Given the description of an element on the screen output the (x, y) to click on. 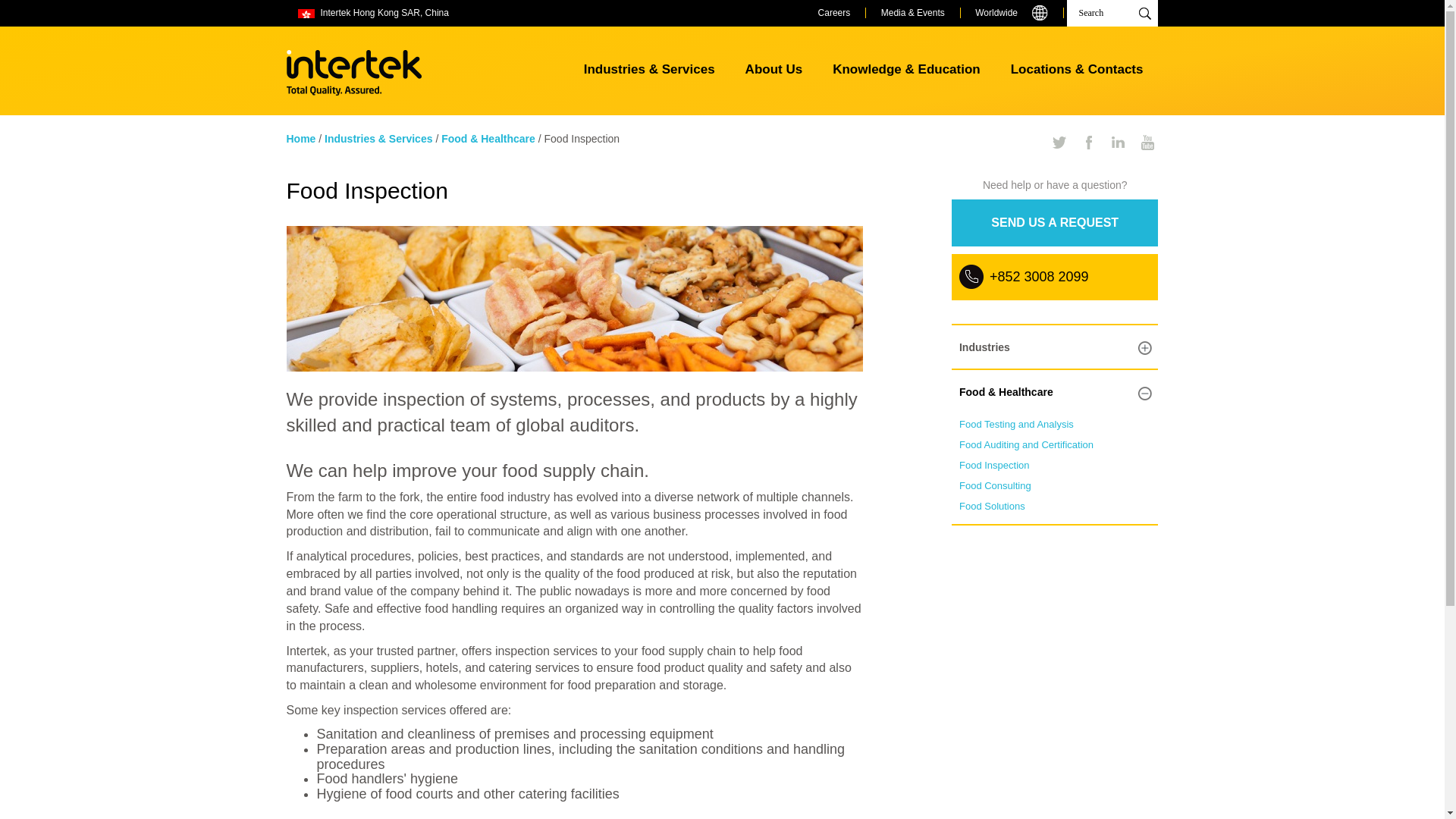
Twitter (1058, 142)
Intertek Hong Kong SAR, China (384, 13)
YouTube (1147, 142)
Careers (834, 13)
Facebook (1088, 142)
site-search-header-submit (1144, 13)
LinkedIn (1118, 142)
Worldwide (1011, 13)
Intertek (354, 72)
Search (1112, 13)
Intertek - Total Quality. Assured. (354, 72)
site-search-header-submit (1144, 13)
